Given the description of an element on the screen output the (x, y) to click on. 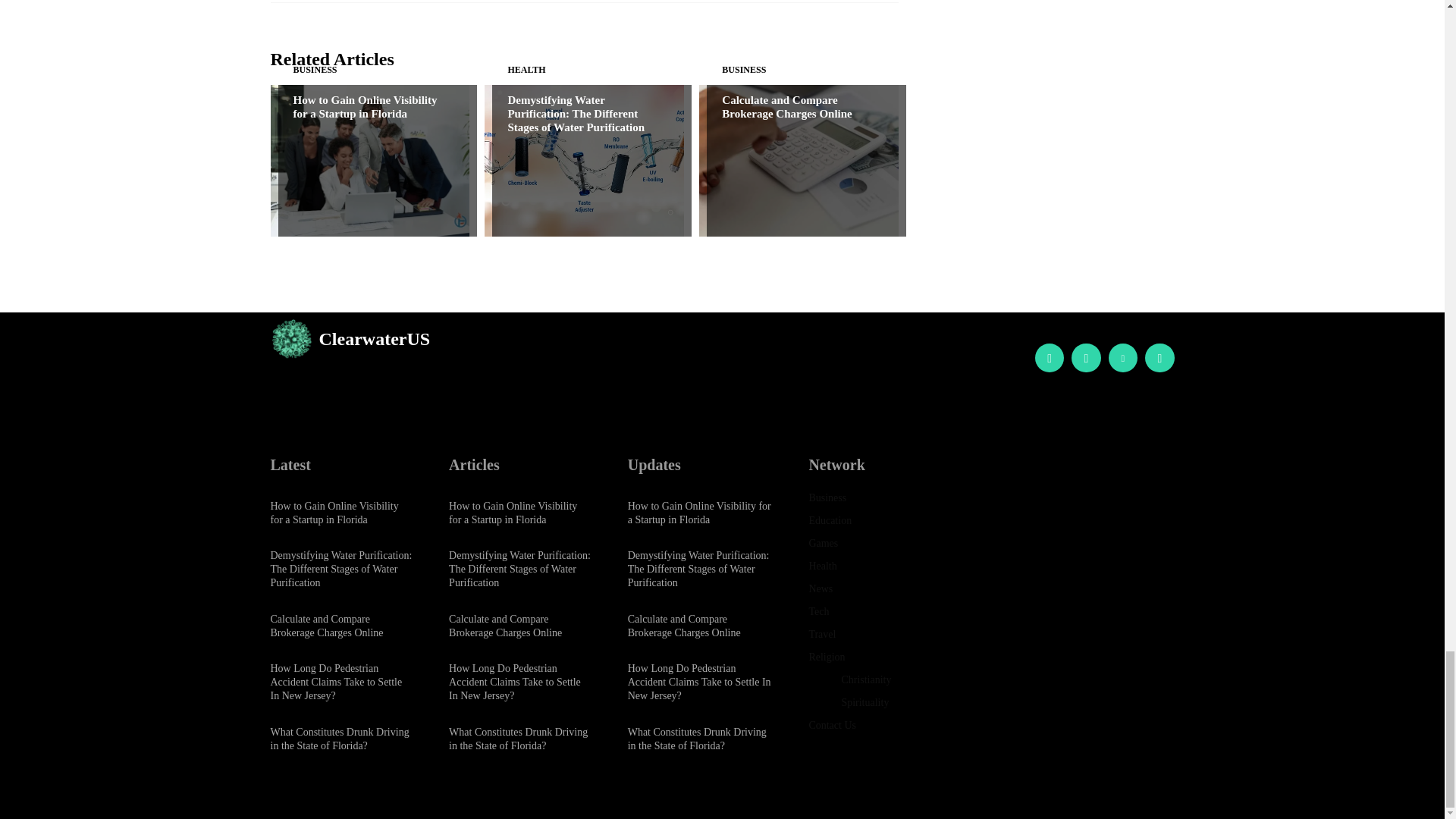
How to Gain Online Visibility for a Startup in Florida (368, 160)
How to Gain Online Visibility for a Startup in Florida (364, 106)
